Given the description of an element on the screen output the (x, y) to click on. 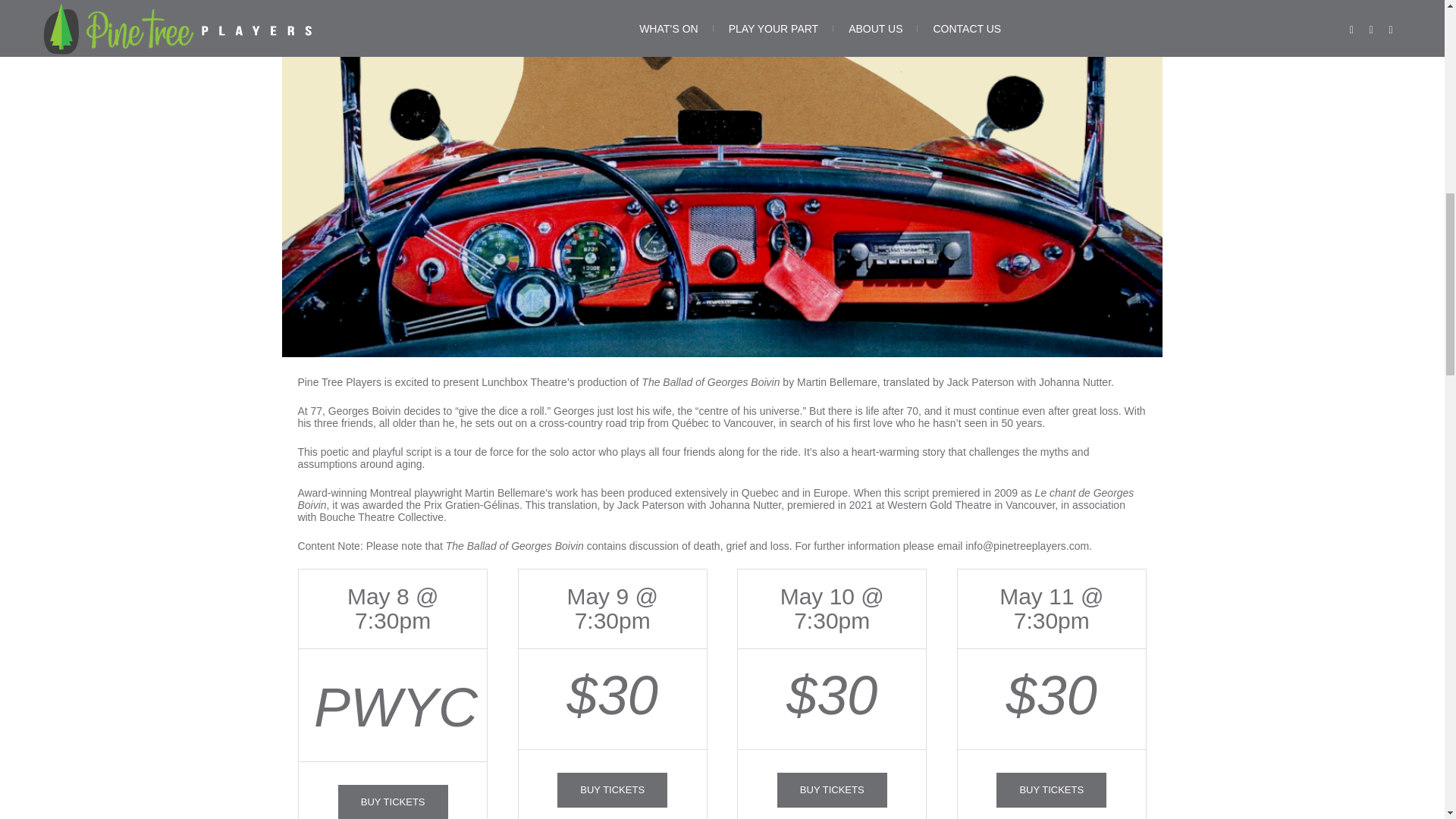
BUY TICKETS (1050, 790)
BUY TICKETS (831, 790)
BUY TICKETS (611, 790)
BUY TICKETS (392, 801)
